Given the description of an element on the screen output the (x, y) to click on. 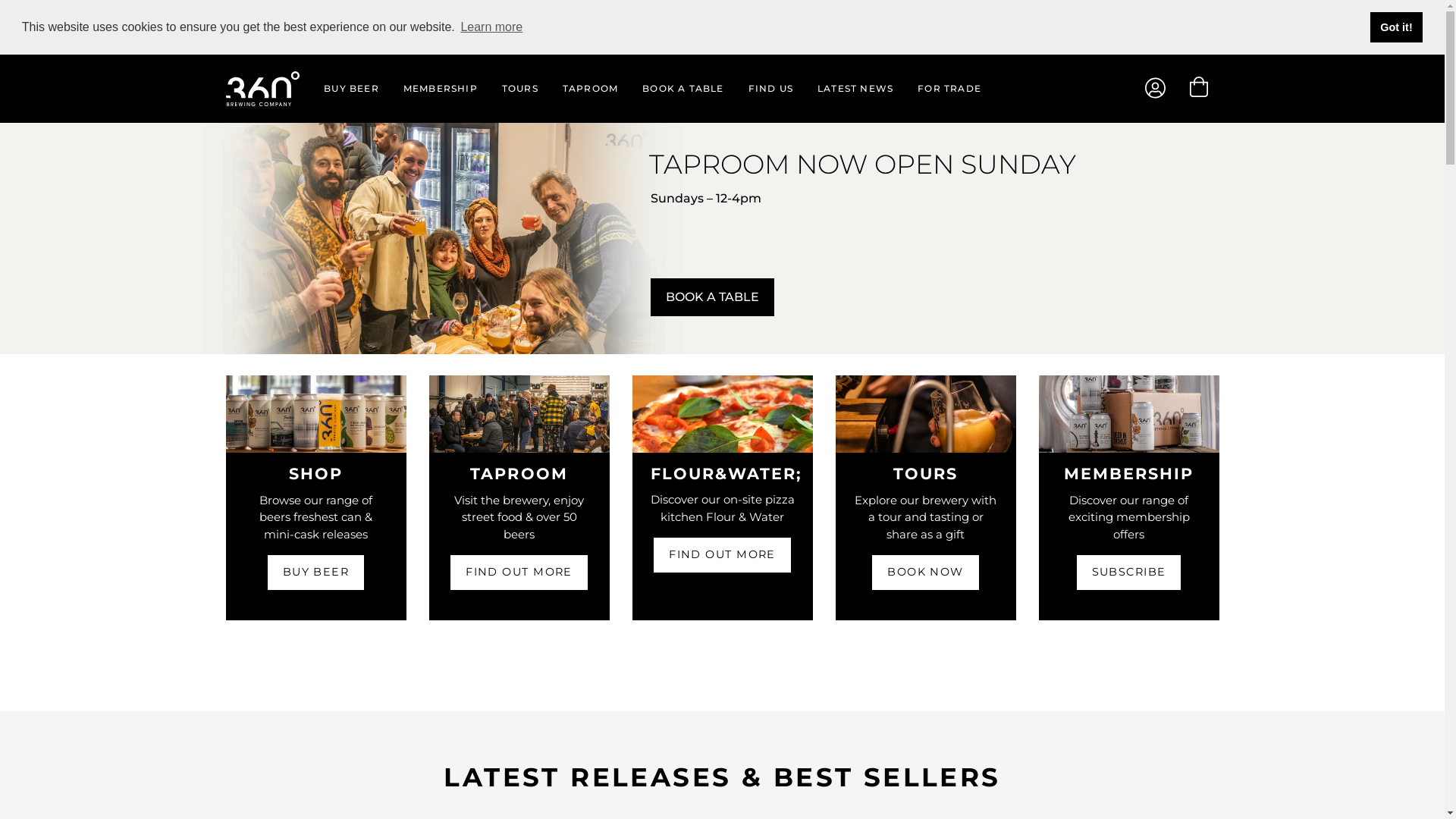
MEMBERSHIP Element type: text (1128, 473)
SUBSCRIBE Element type: text (1128, 572)
TAPROOM Element type: text (518, 473)
Marinara Pizza Element type: hover (722, 412)
FIND OUT MORE Element type: text (721, 554)
LATEST NEWS Element type: text (855, 88)
FOR TRADE Element type: text (943, 88)
FIND US Element type: text (770, 88)
TOURS Element type: text (925, 473)
360-home-shop Element type: hover (315, 413)
FLOUR&WATER; Element type: text (726, 473)
BOOK A TABLE Element type: text (682, 88)
BOOK NOW Element type: text (925, 572)
BOOK A TABLE Element type: text (712, 296)
360-home-beer360 Element type: hover (1128, 413)
TOURS Element type: text (519, 88)
360-home-taproom2 Element type: hover (519, 413)
BUY BEER Element type: text (351, 88)
BUY BEER Element type: text (315, 572)
Got it! Element type: text (1396, 27)
Learn more Element type: text (491, 26)
SHOP Element type: text (315, 473)
TAPROOM Element type: text (590, 88)
MEMBERSHIP Element type: text (440, 88)
FIND OUT MORE Element type: text (518, 572)
360-home-tours Element type: hover (925, 413)
